Given the description of an element on the screen output the (x, y) to click on. 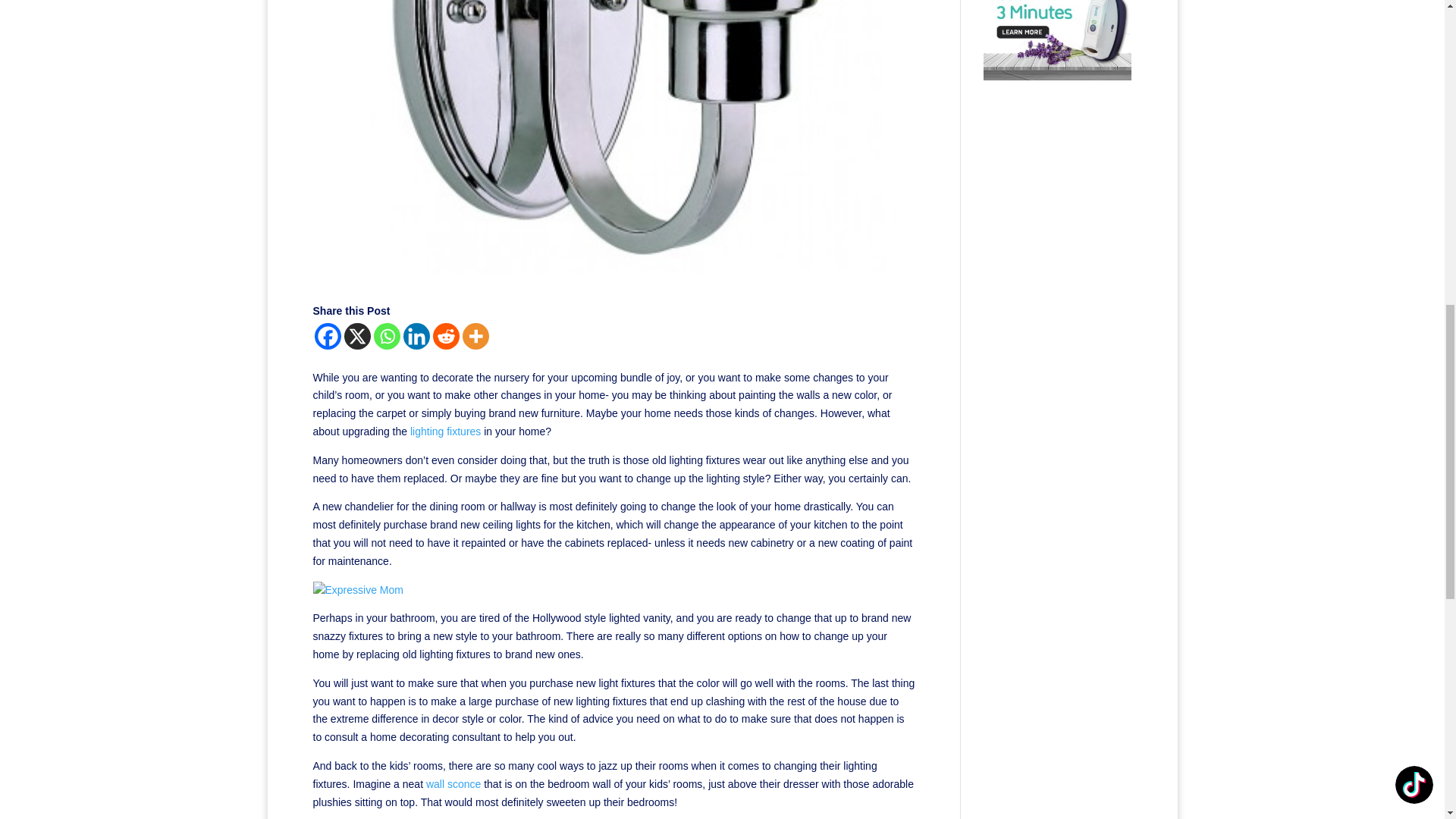
X (357, 335)
lighting fixtures (445, 431)
Linkedin (416, 335)
wall sconce (453, 784)
Reddit (445, 335)
Facebook (327, 335)
Whatsapp (385, 335)
More (476, 335)
